Given the description of an element on the screen output the (x, y) to click on. 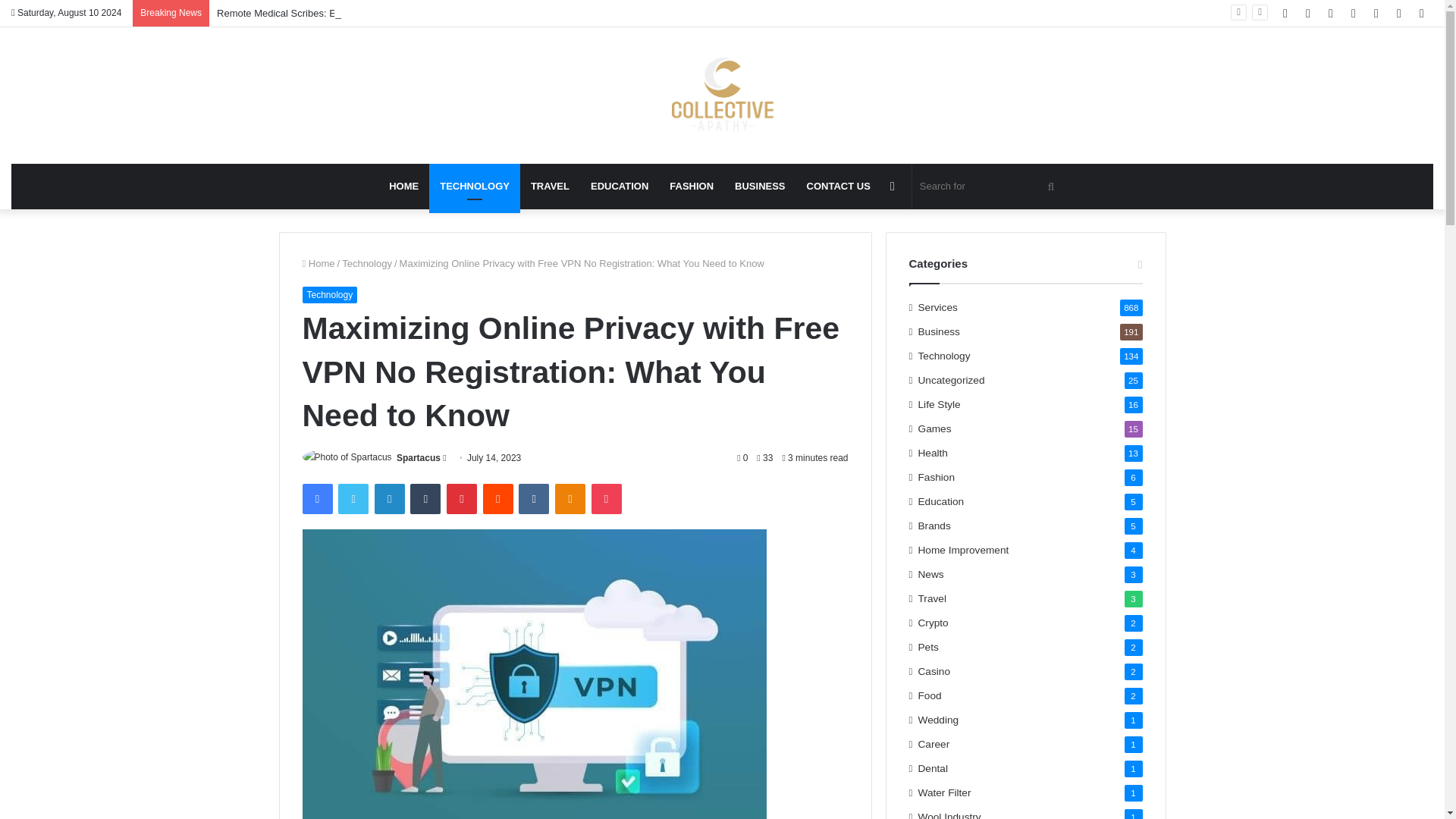
Home (317, 263)
Pocket (606, 499)
BUSINESS (758, 186)
collective apathy (721, 95)
CONTACT US (838, 186)
Pinterest (461, 499)
LinkedIn (389, 499)
Twitter (352, 499)
Spartacus (418, 457)
